Given the description of an element on the screen output the (x, y) to click on. 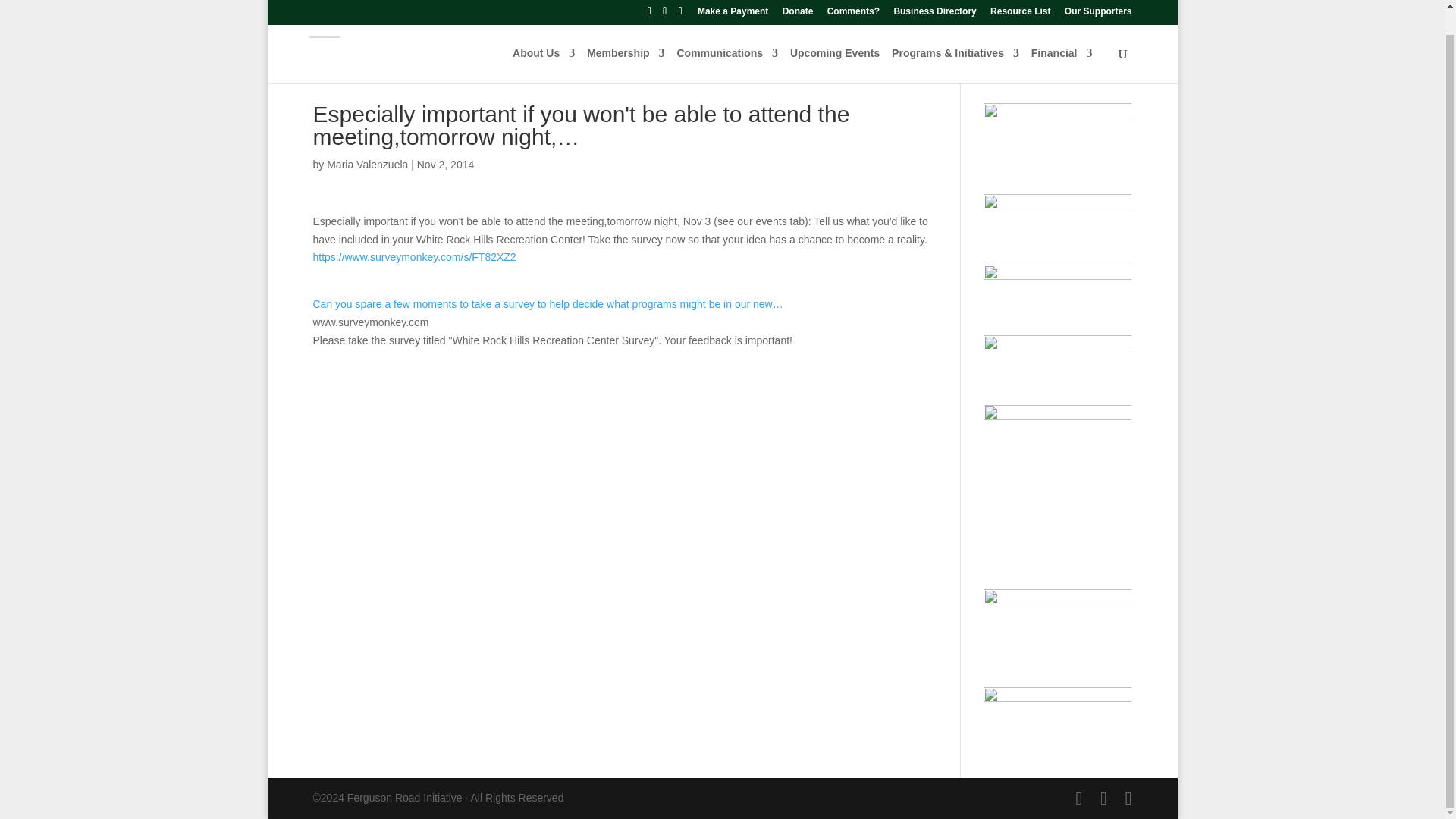
Posts by Maria Valenzuela (366, 164)
Upcoming Events (834, 40)
Communications (727, 40)
About Us (543, 40)
Membership (624, 40)
